Given the description of an element on the screen output the (x, y) to click on. 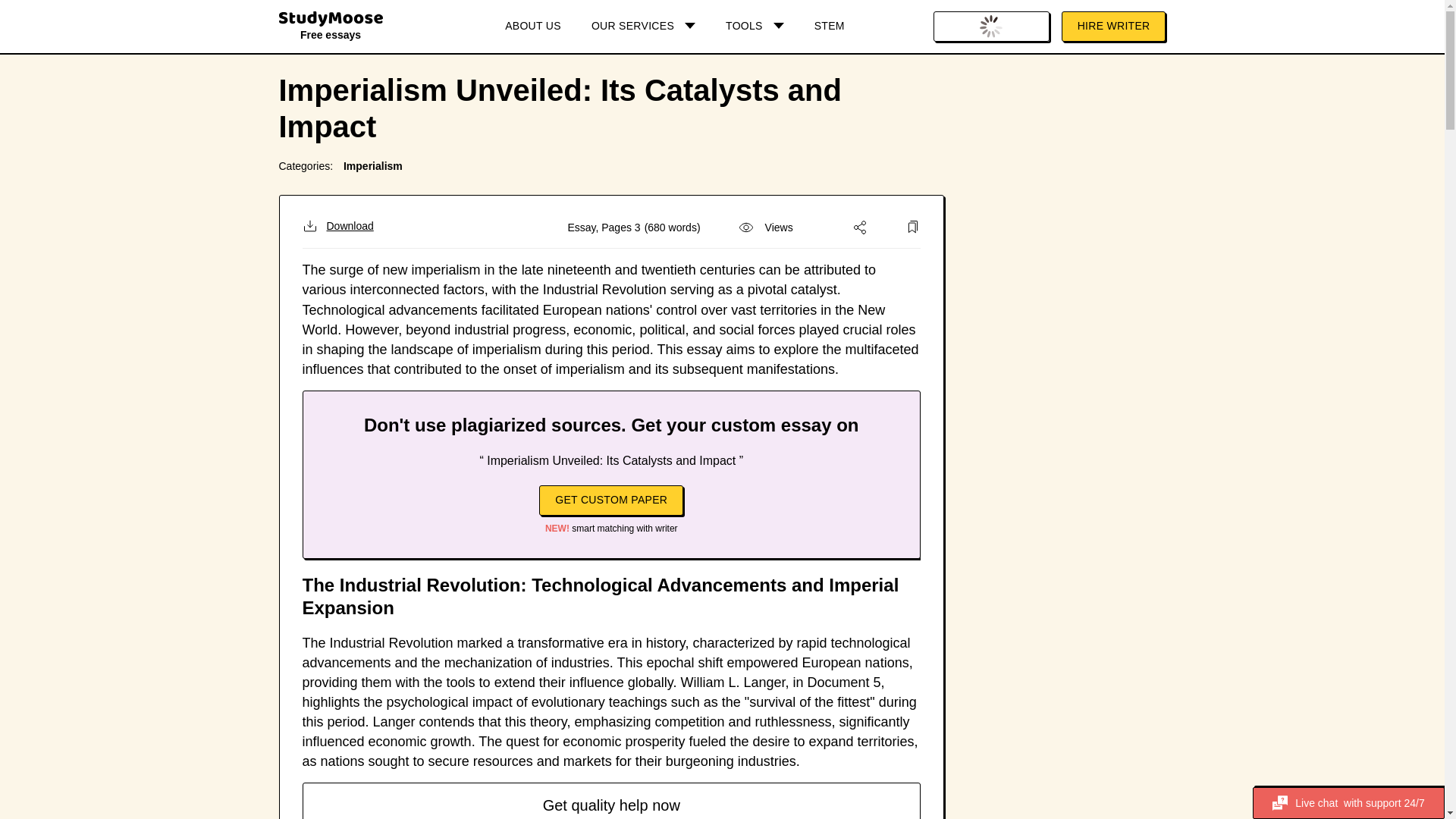
Free essays (330, 29)
TOOLS (754, 26)
GET CUSTOM PAPER (610, 500)
OUR SERVICES (643, 26)
HIRE WRITER (1113, 26)
Imperialism (373, 165)
Download (336, 225)
STEM (829, 26)
ABOUT US (532, 26)
